Given the description of an element on the screen output the (x, y) to click on. 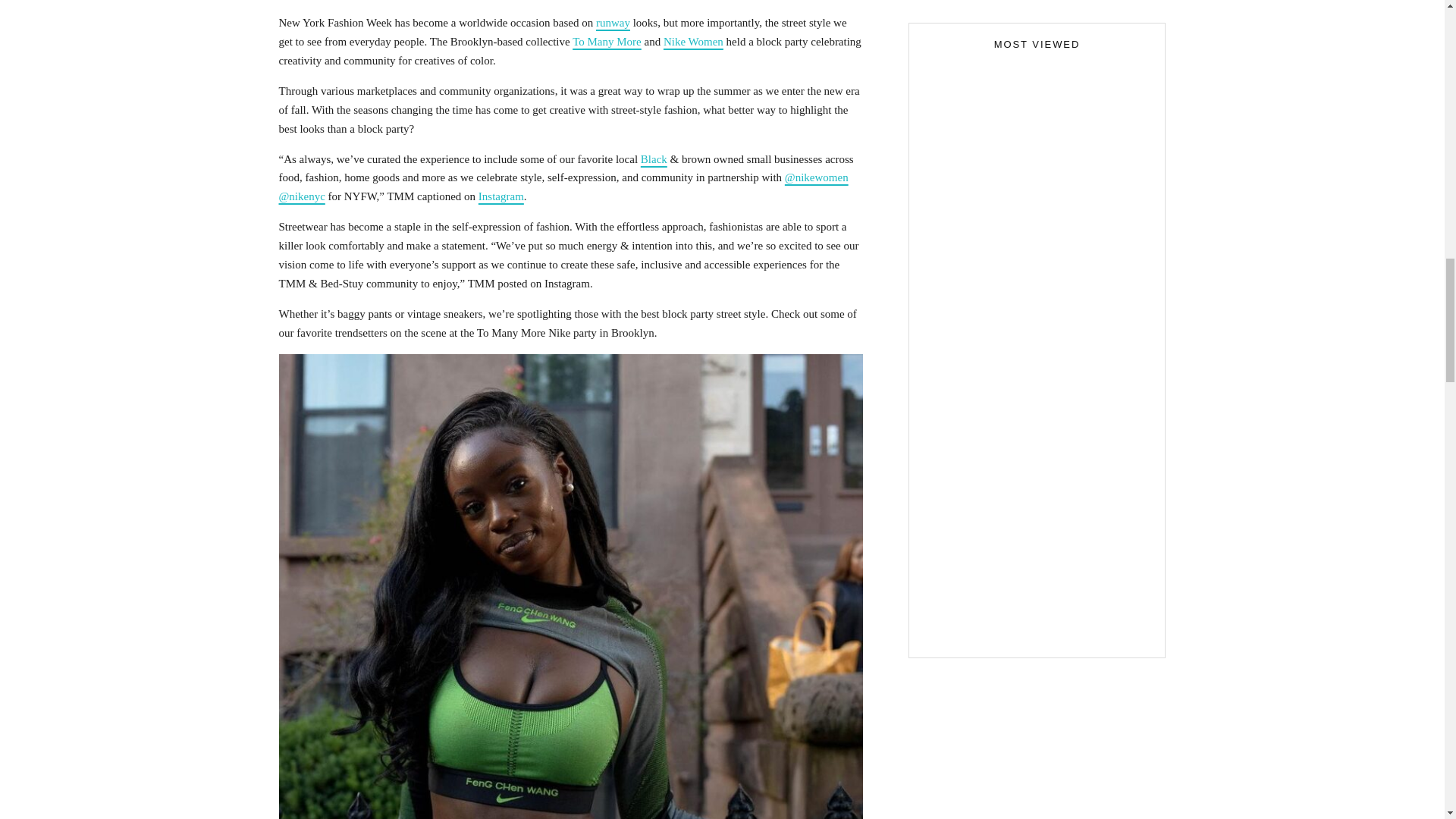
To Many More (607, 41)
Nike Women (693, 41)
Black (653, 159)
runway (612, 22)
Instagram (501, 196)
